Given the description of an element on the screen output the (x, y) to click on. 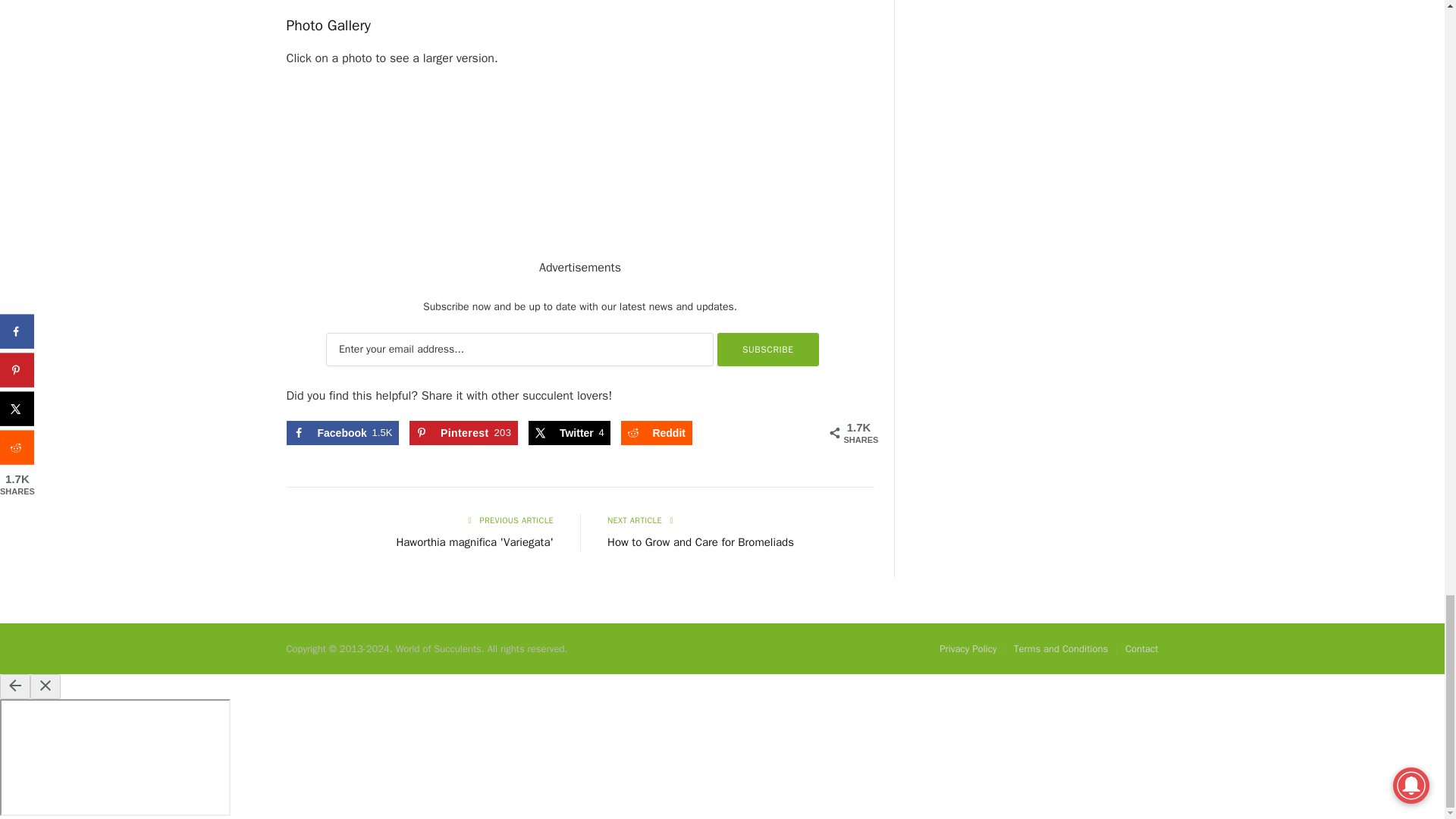
Share on Reddit (657, 432)
Save to Pinterest (463, 432)
Subscribe (768, 349)
Share on X (569, 432)
Share on Facebook (342, 432)
